Given the description of an element on the screen output the (x, y) to click on. 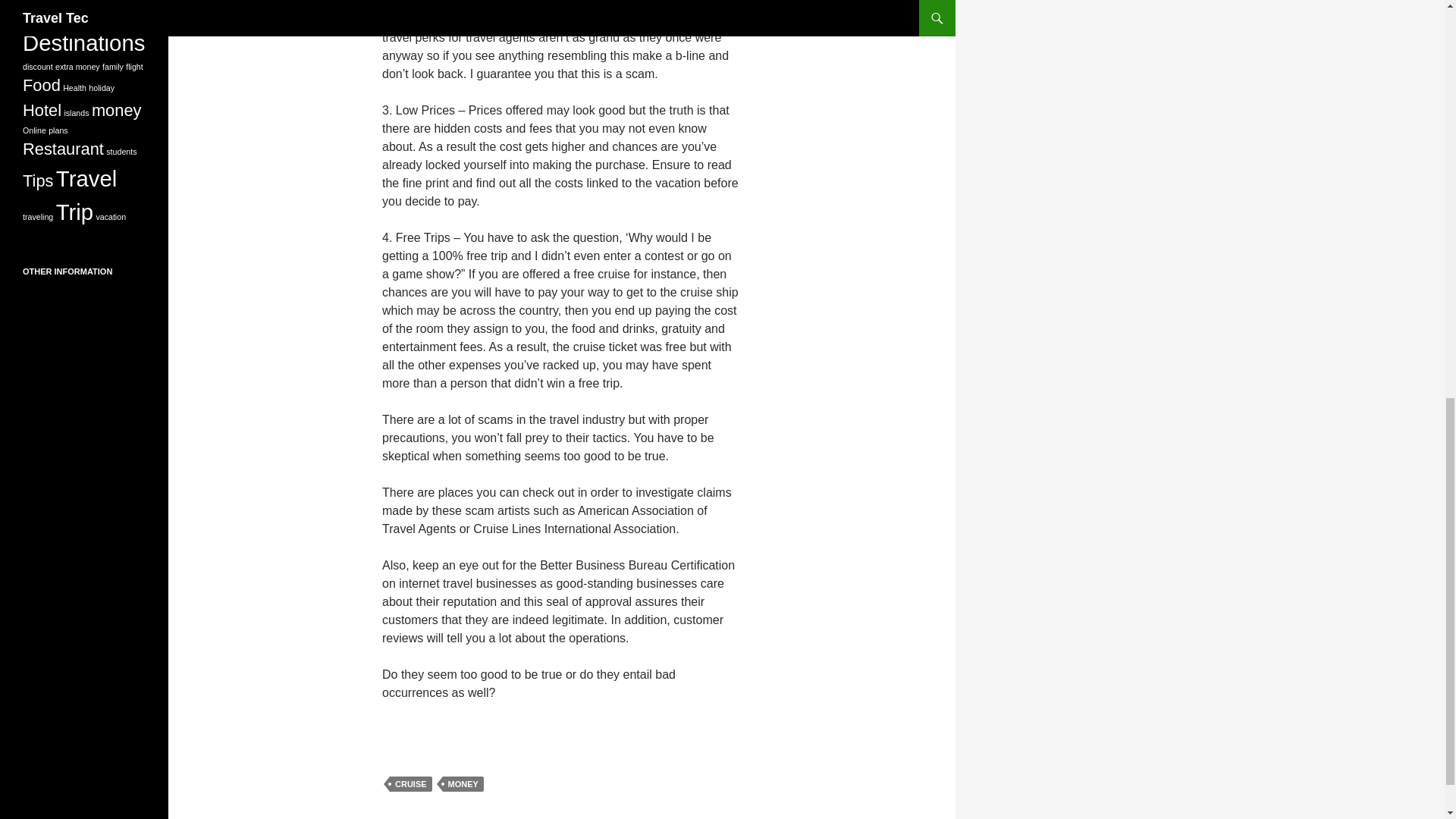
CRUISE (411, 783)
MONEY (462, 783)
